Given the description of an element on the screen output the (x, y) to click on. 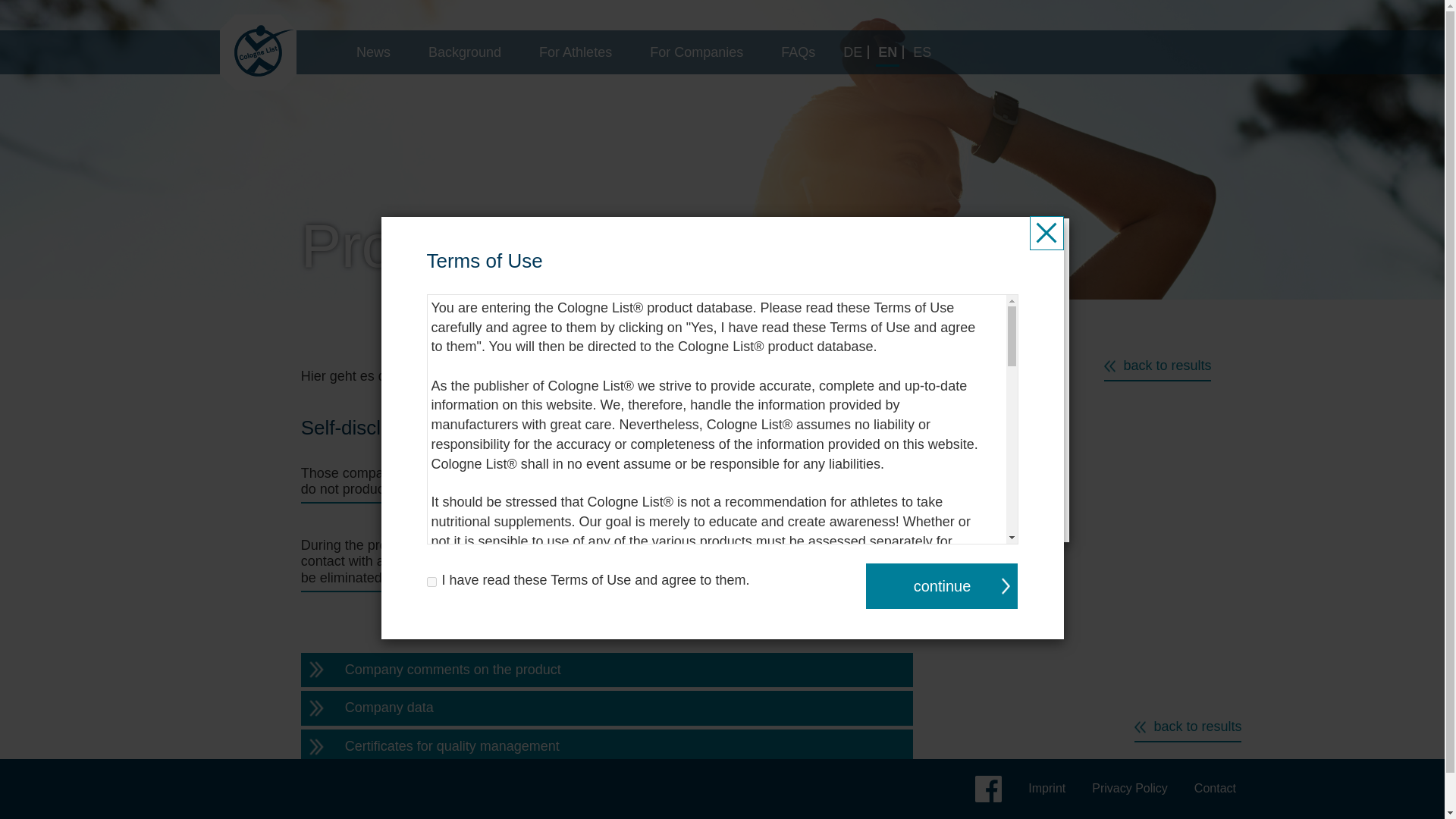
1 (430, 582)
DE (853, 51)
Certificates for quality management (606, 746)
For Companies (695, 52)
back to results (1187, 727)
privacy policy (864, 372)
ES (921, 51)
EN (888, 51)
Background (464, 52)
For Athletes (574, 52)
